Given the description of an element on the screen output the (x, y) to click on. 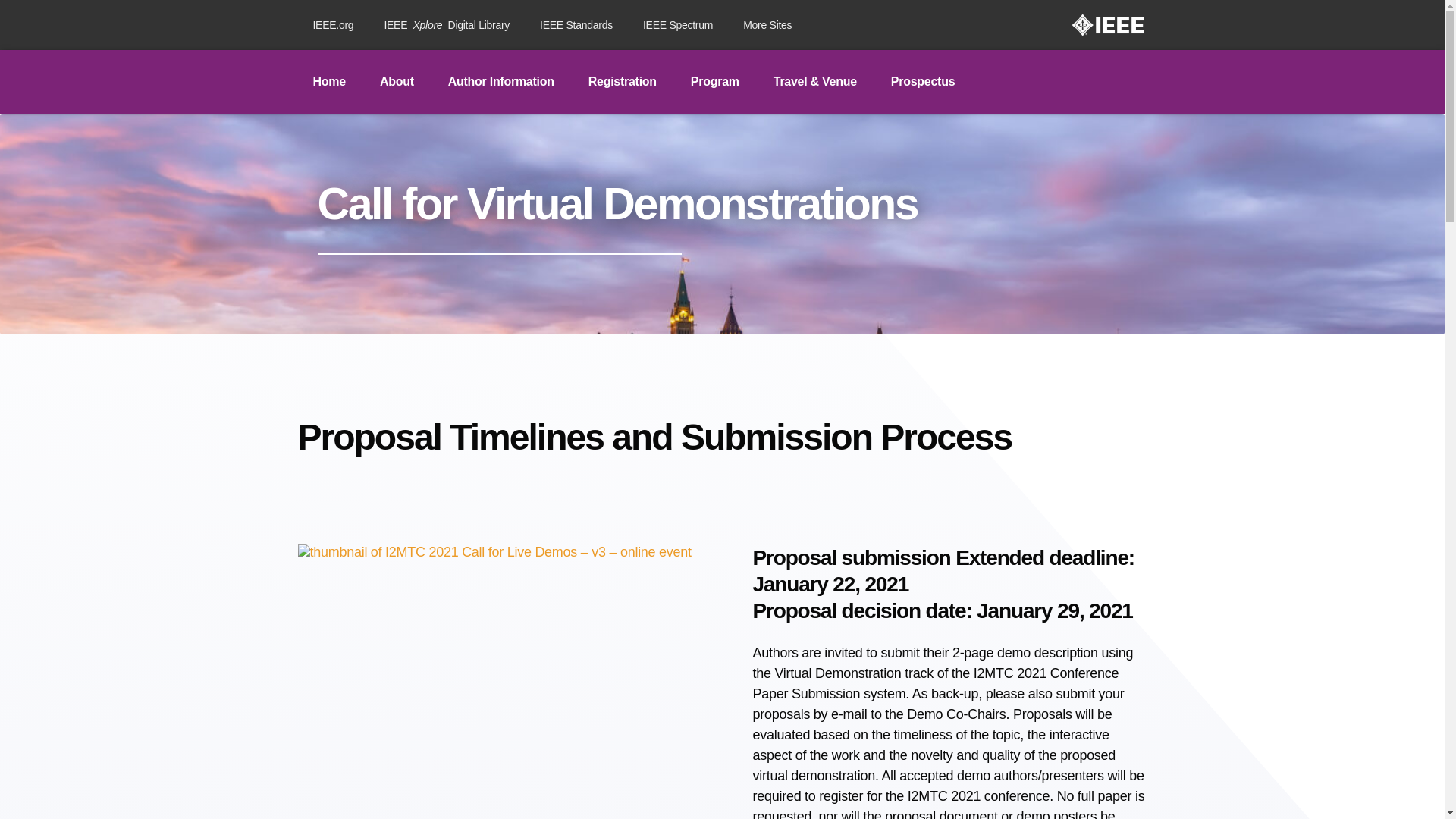
IEEE Spectrum (677, 24)
IEEE Standards (446, 24)
About (575, 24)
Home (397, 81)
More Sites (328, 81)
Program (767, 24)
Registration (714, 81)
Author Information (622, 81)
IEEE.org (500, 81)
